Given the description of an element on the screen output the (x, y) to click on. 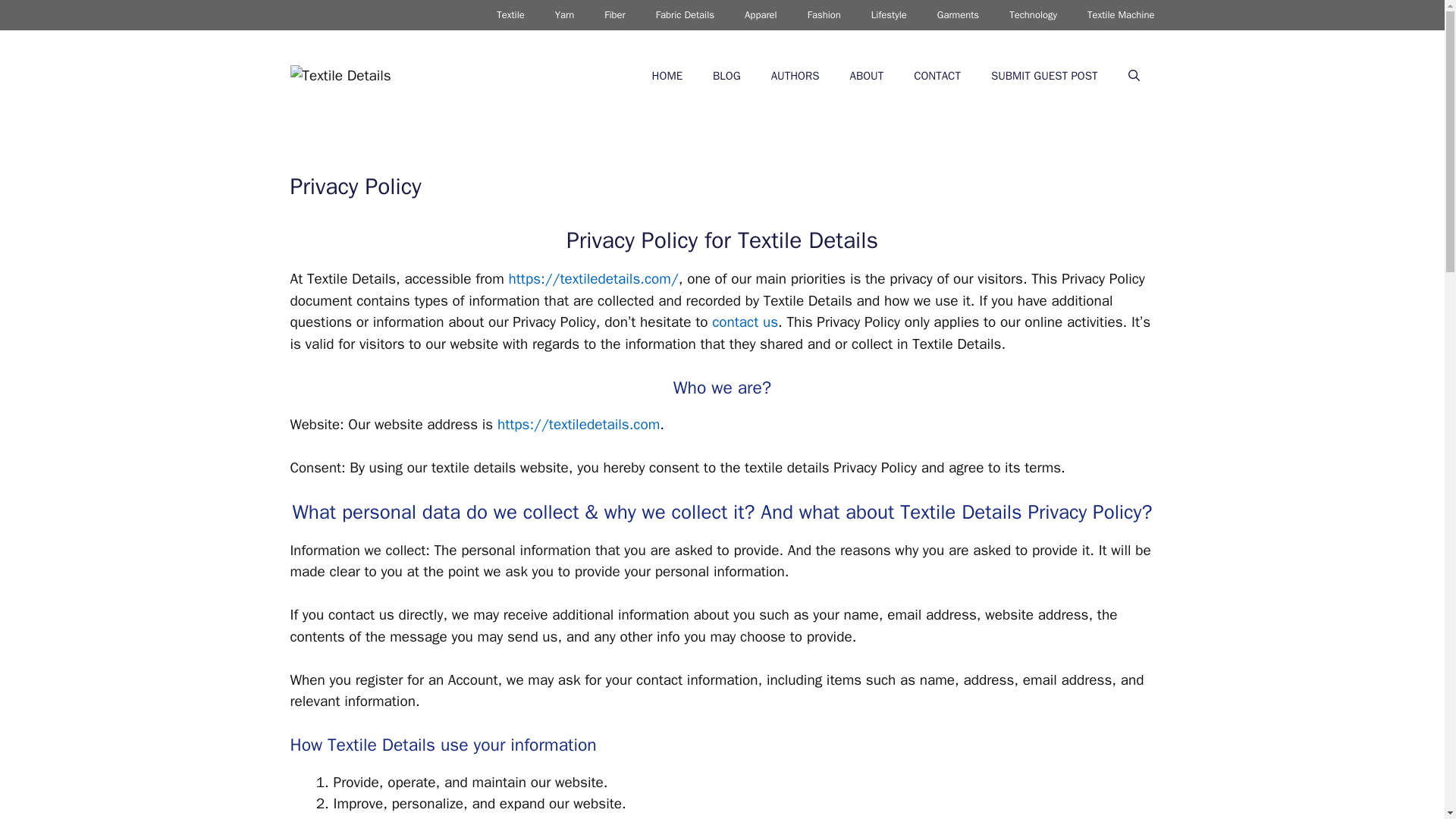
Fiber (614, 15)
Lifestyle (888, 15)
Textile (510, 15)
Fabric Details (684, 15)
SUBMIT GUEST POST (1044, 75)
Textile Machine (1120, 15)
Fashion (824, 15)
ABOUT (866, 75)
AUTHORS (794, 75)
Garments (957, 15)
